Given the description of an element on the screen output the (x, y) to click on. 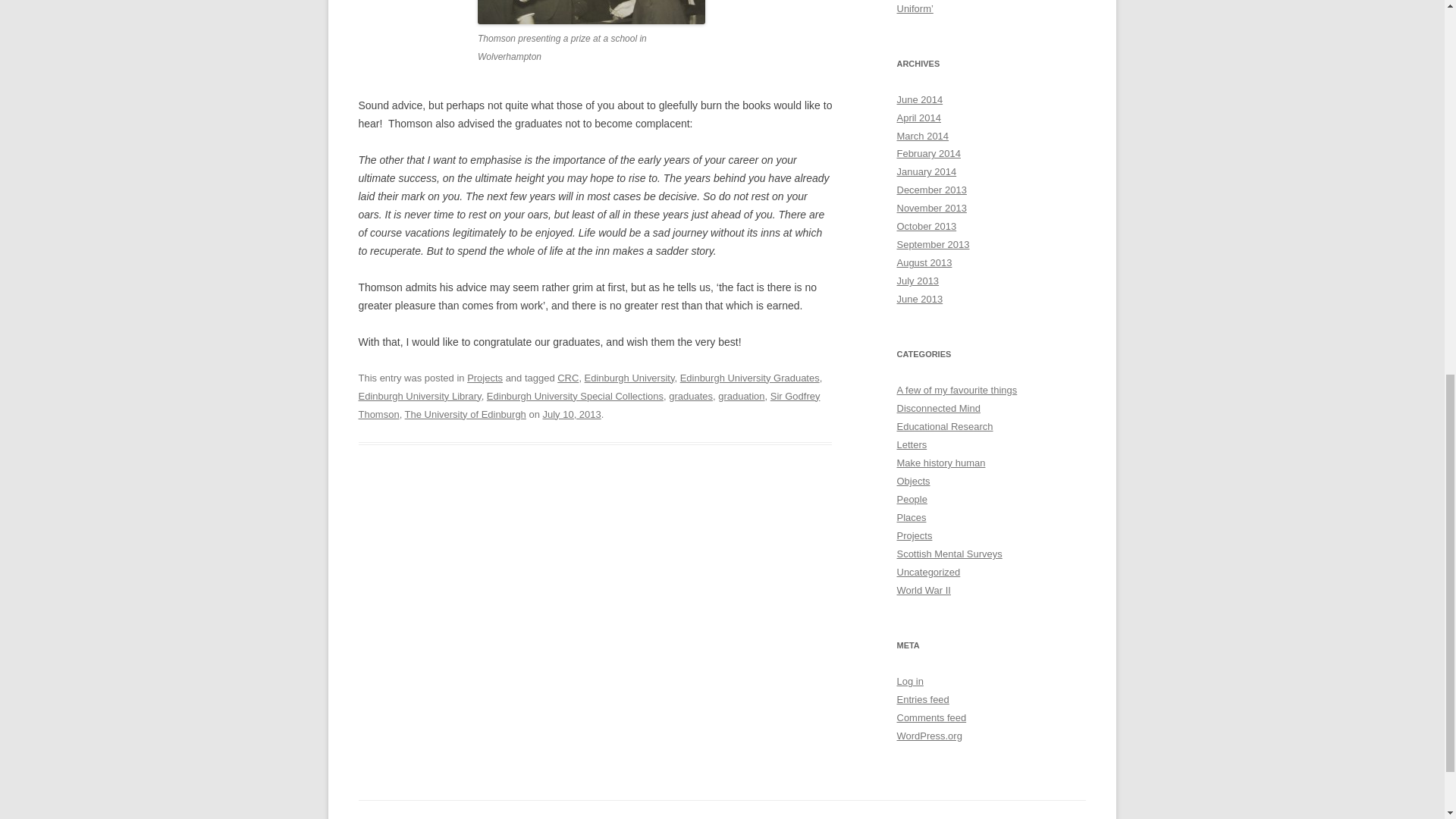
December 2013 (931, 189)
Sir Godfrey Thomson (588, 405)
June 2014 (919, 99)
Edinburgh University (630, 378)
March 2014 (922, 134)
The University of Edinburgh (464, 414)
Edinburgh University Library (419, 396)
CRC (567, 378)
July 10, 2013 (572, 414)
9:19 am (572, 414)
